Given the description of an element on the screen output the (x, y) to click on. 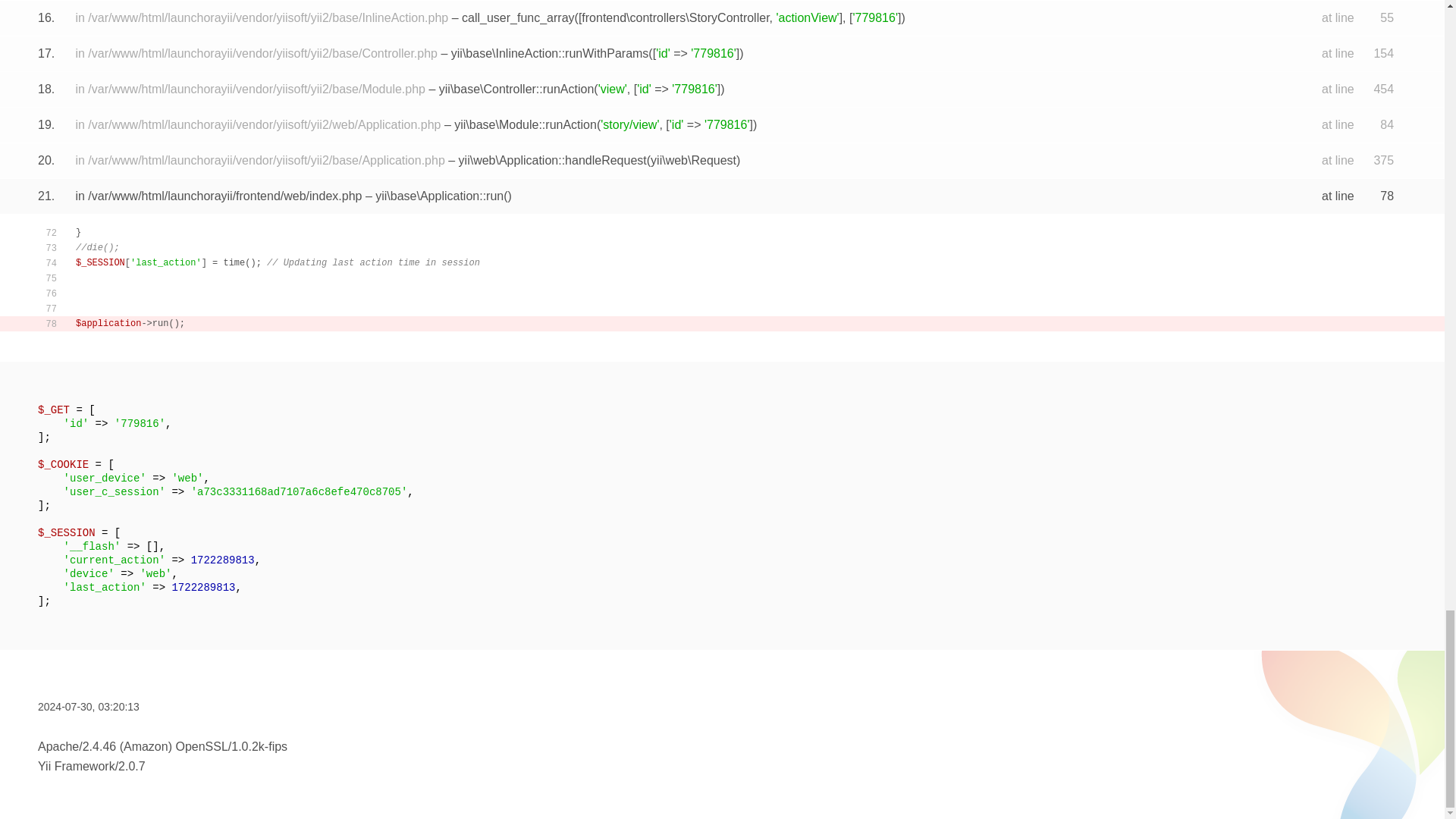
2.0.7 (131, 766)
Yii Framework (76, 766)
